Given the description of an element on the screen output the (x, y) to click on. 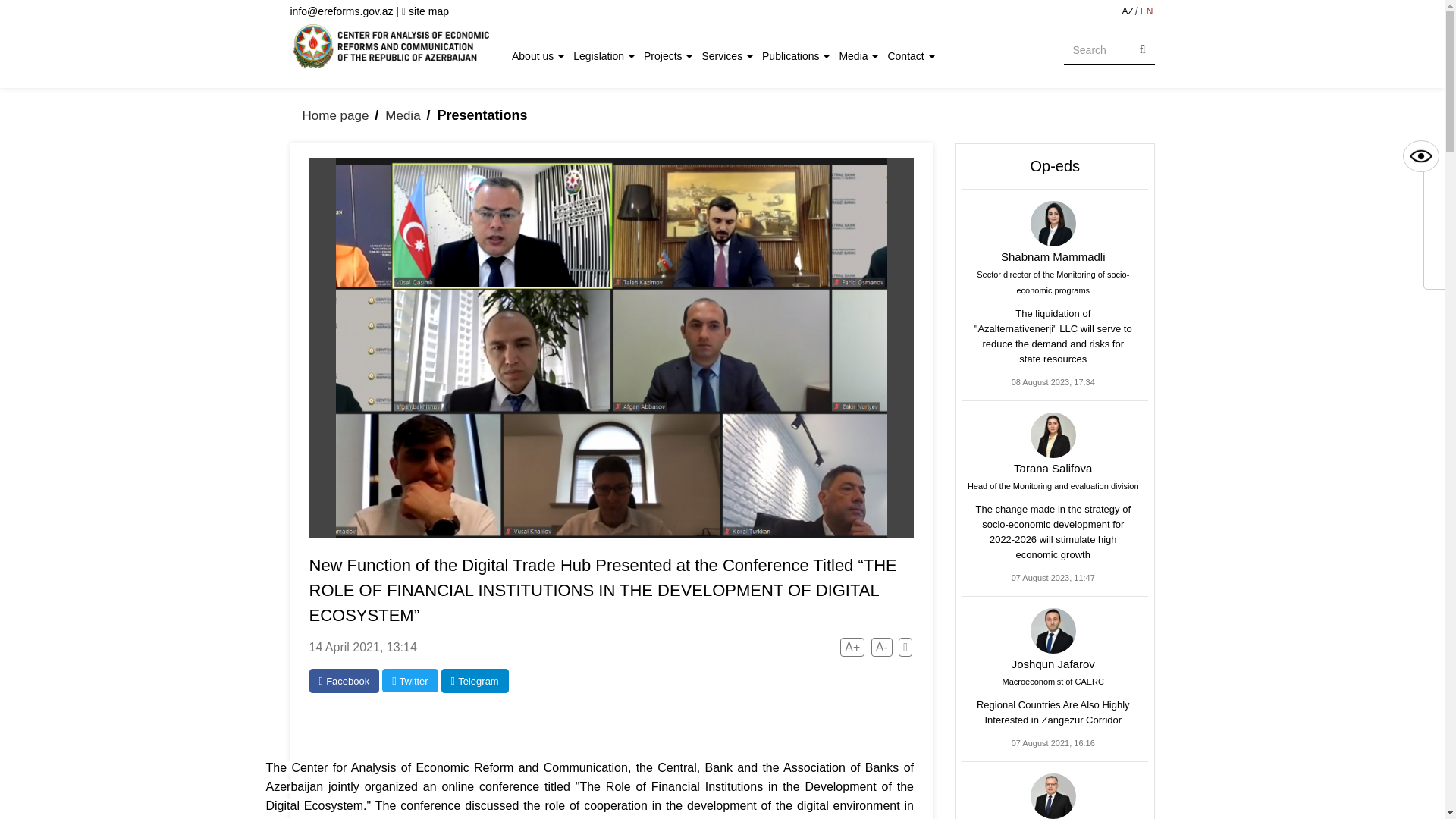
Services (731, 53)
Publications (799, 53)
Projects (672, 53)
Legislation (608, 53)
site map (424, 10)
About us (542, 53)
